Given the description of an element on the screen output the (x, y) to click on. 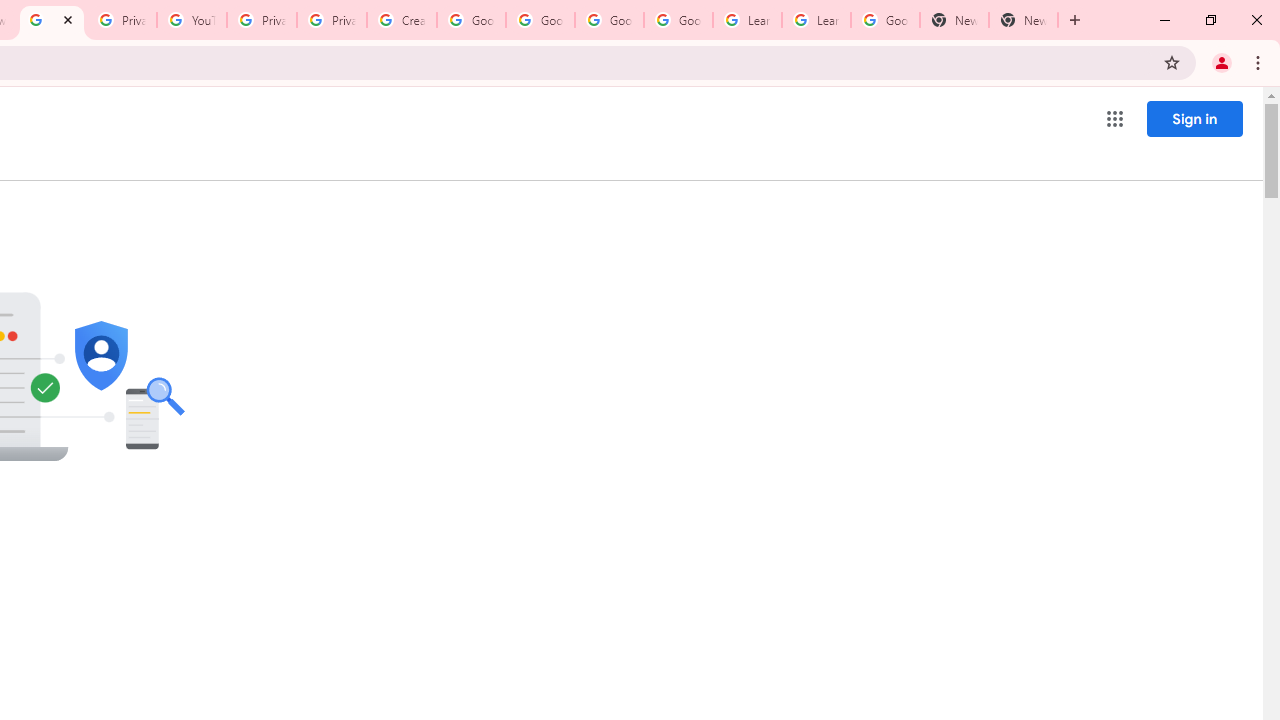
Google Account (885, 20)
Create your Google Account (401, 20)
New Tab (1023, 20)
Google Account Help (677, 20)
Google Account Help (539, 20)
Google Account Help (608, 20)
